Given the description of an element on the screen output the (x, y) to click on. 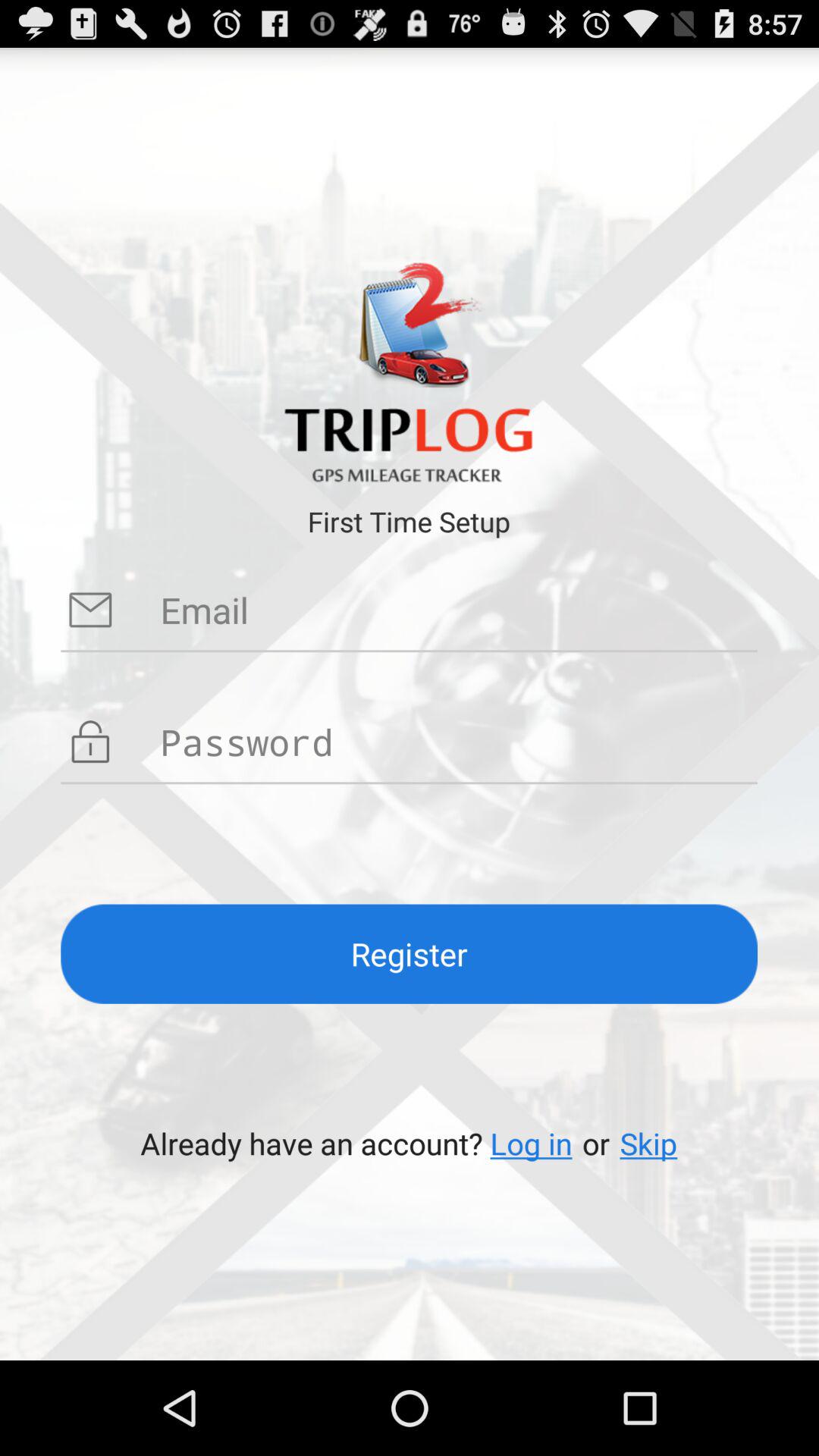
turn off the register (408, 953)
